Given the description of an element on the screen output the (x, y) to click on. 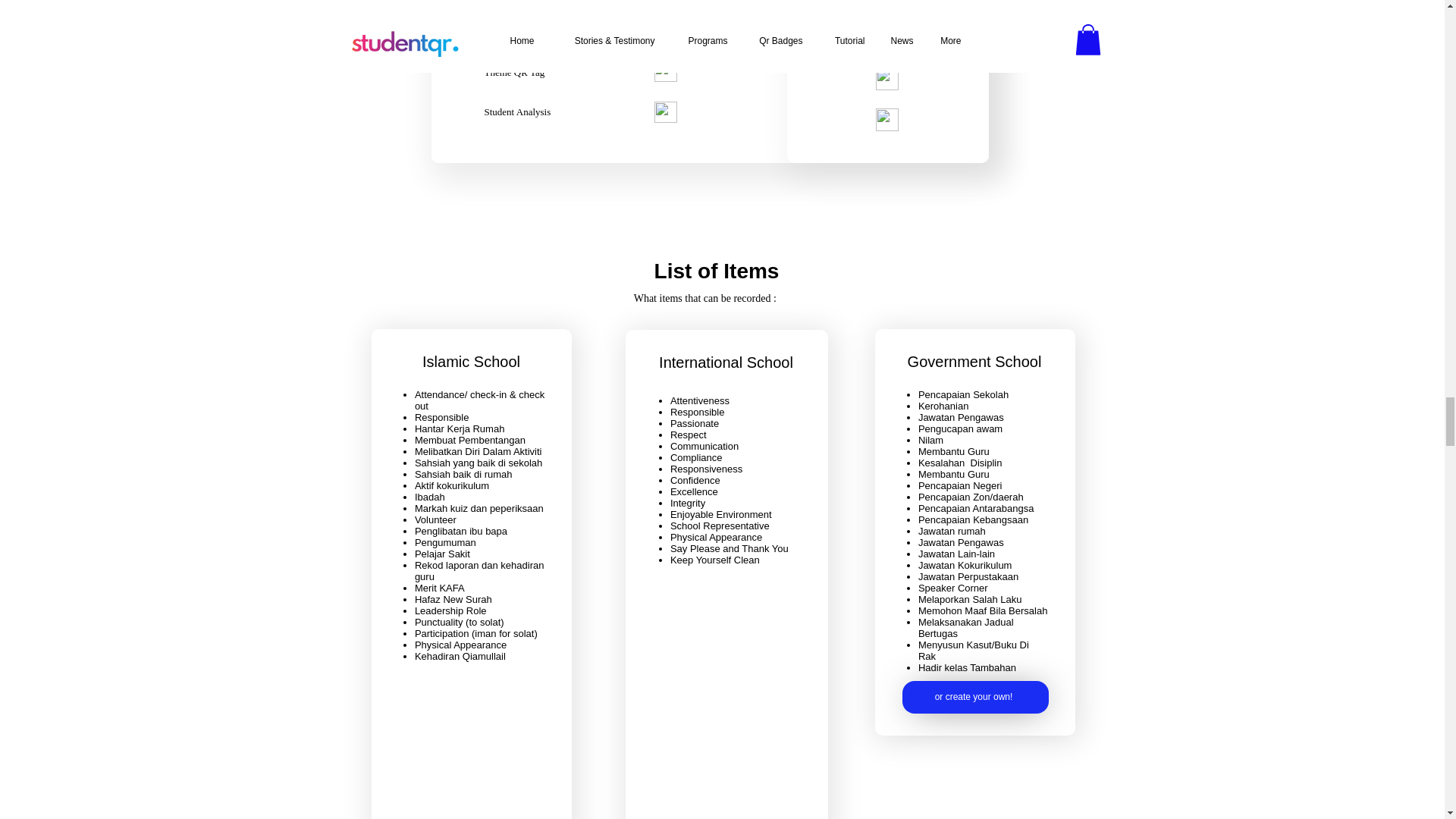
tick.png (886, 78)
tick.png (886, 39)
tick.png (886, 4)
or create your own! (975, 696)
tick.png (886, 119)
